Given the description of an element on the screen output the (x, y) to click on. 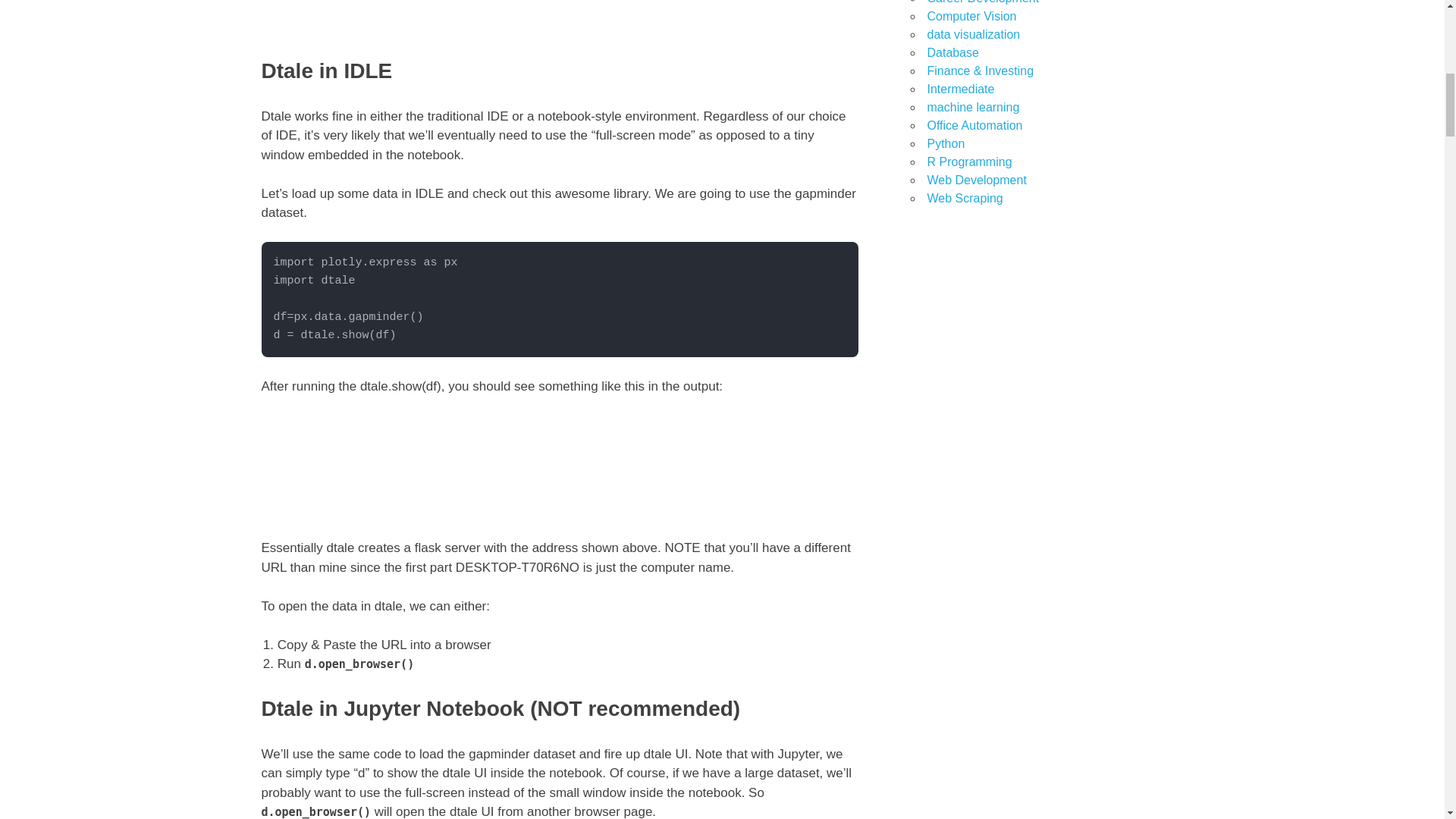
Exploratory Data Analysis With Dtale (558, 18)
